Given the description of an element on the screen output the (x, y) to click on. 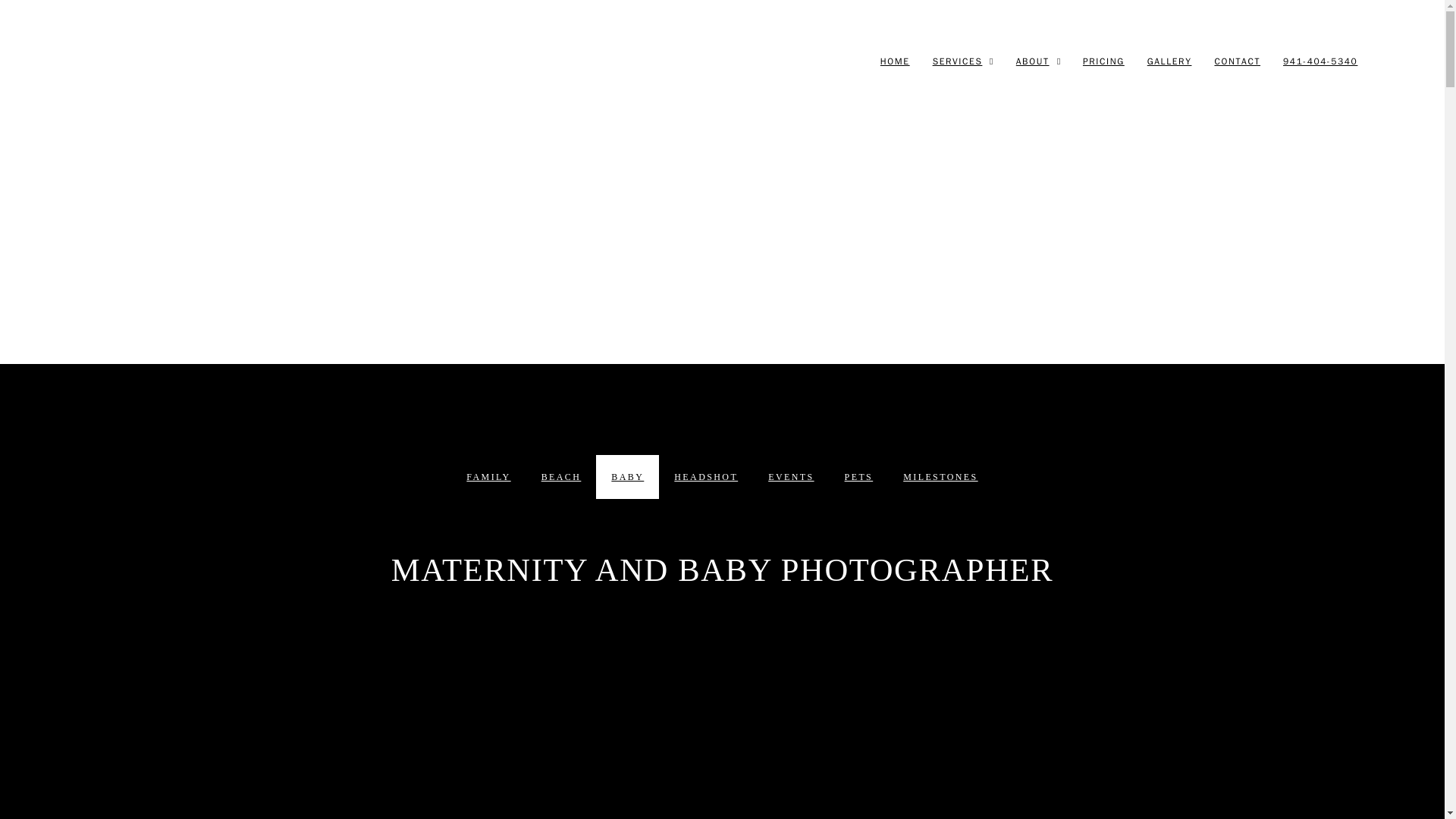
ABOUT (1032, 61)
FLAMINGO PHOTOGRAPHER (200, 60)
SERVICES (957, 61)
HOME (895, 61)
941-404-5340 (1319, 61)
CONTACT (1237, 61)
GALLERY (1169, 61)
PRICING (1103, 61)
Phone Us (1319, 61)
